Given the description of an element on the screen output the (x, y) to click on. 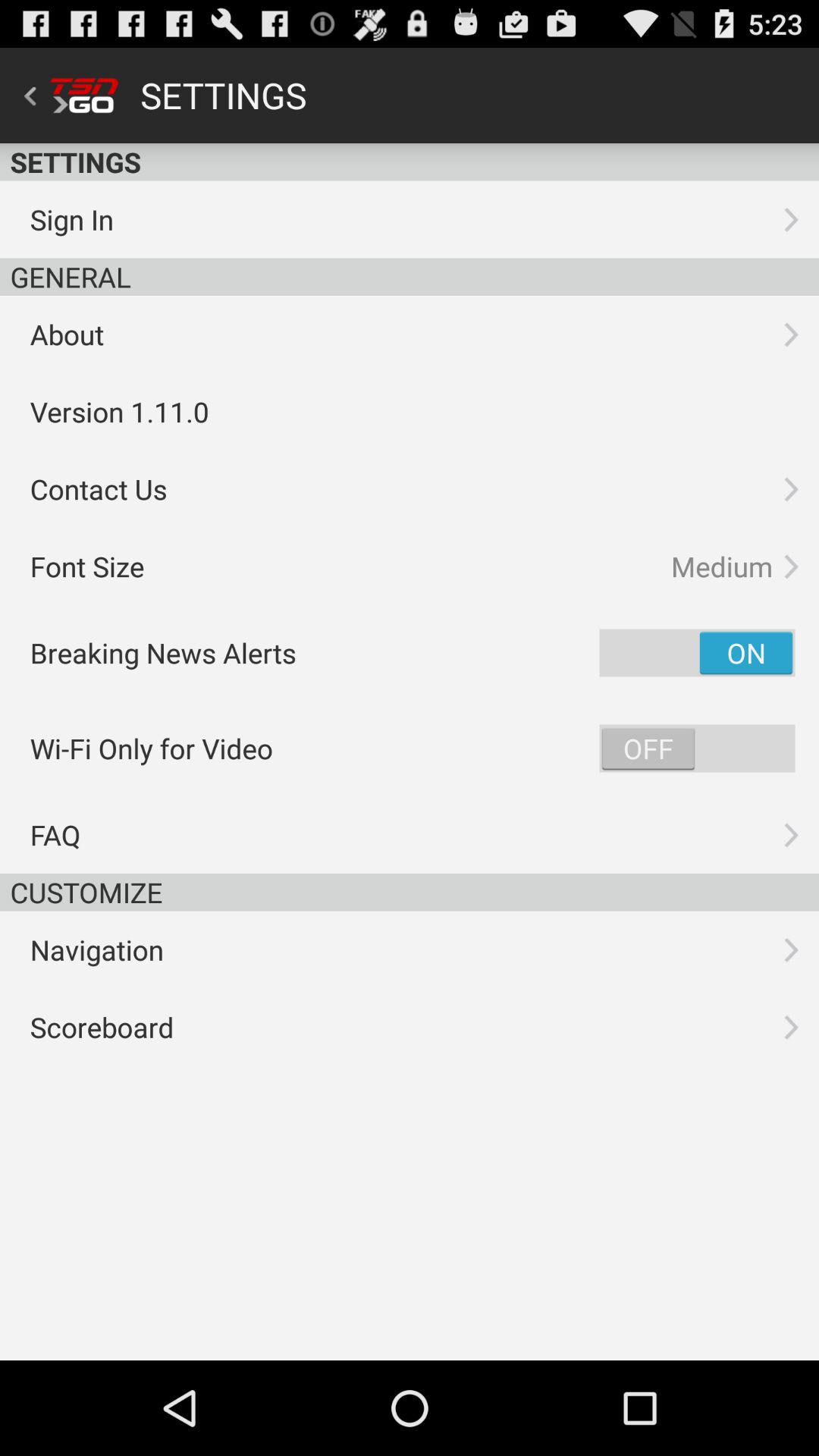
switch wi-fi only for video option (697, 748)
